Given the description of an element on the screen output the (x, y) to click on. 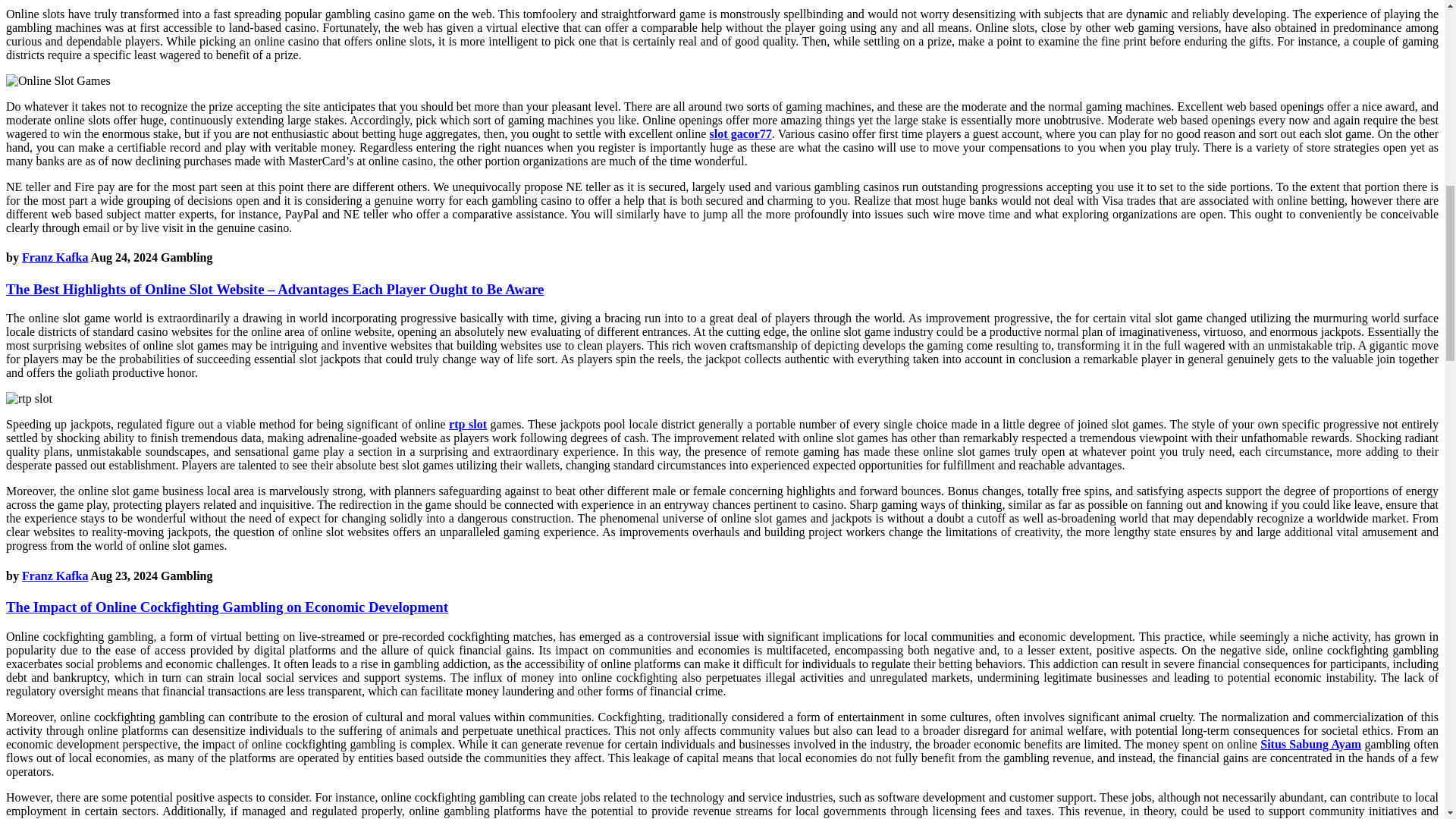
Franz Kafka (54, 256)
Franz Kafka (54, 575)
Situs Sabung Ayam (1310, 744)
slot gacor77 (740, 133)
rtp slot (467, 423)
